Given the description of an element on the screen output the (x, y) to click on. 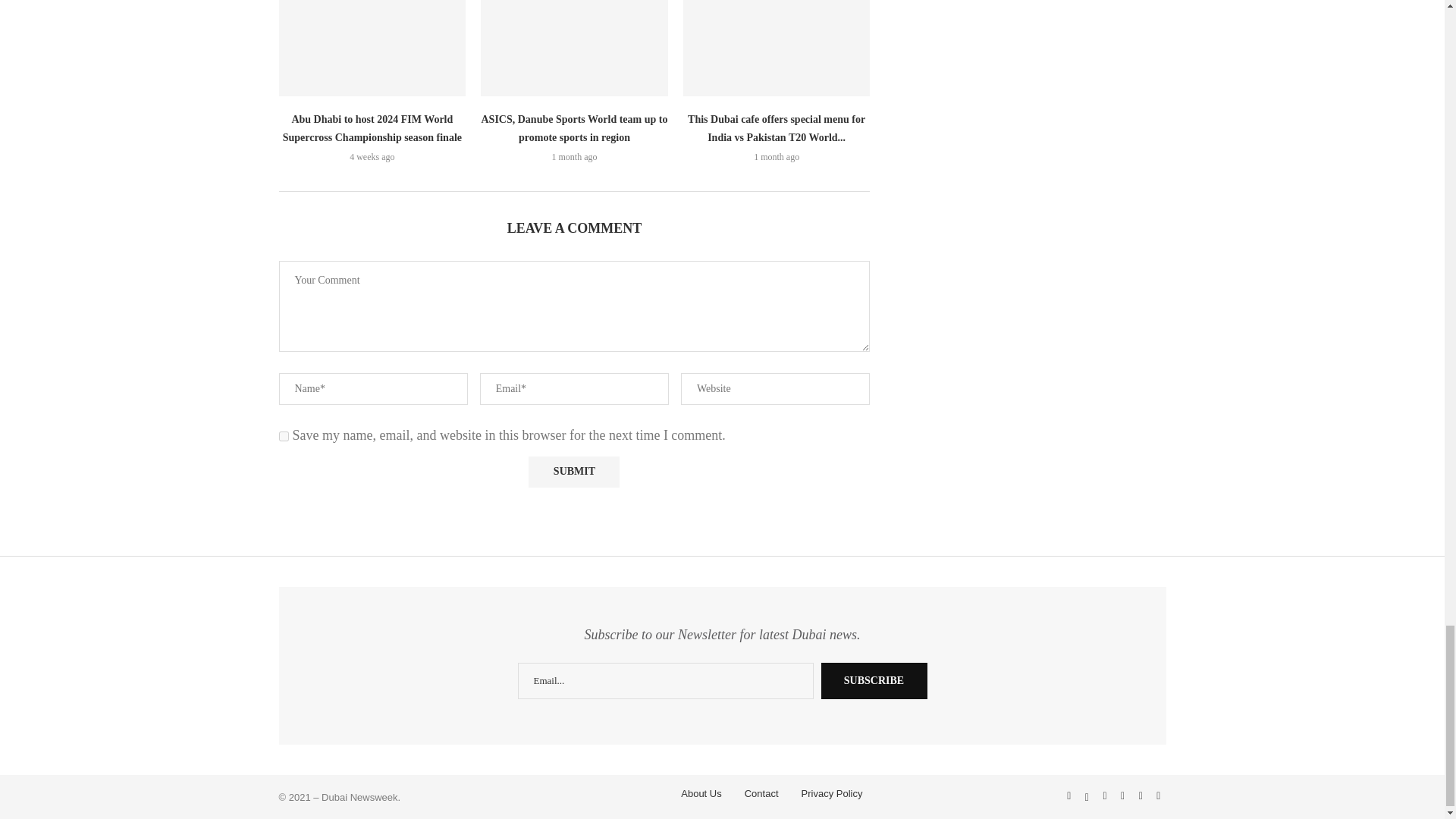
yes (283, 436)
Submit (574, 471)
Subscribe (873, 680)
